Given the description of an element on the screen output the (x, y) to click on. 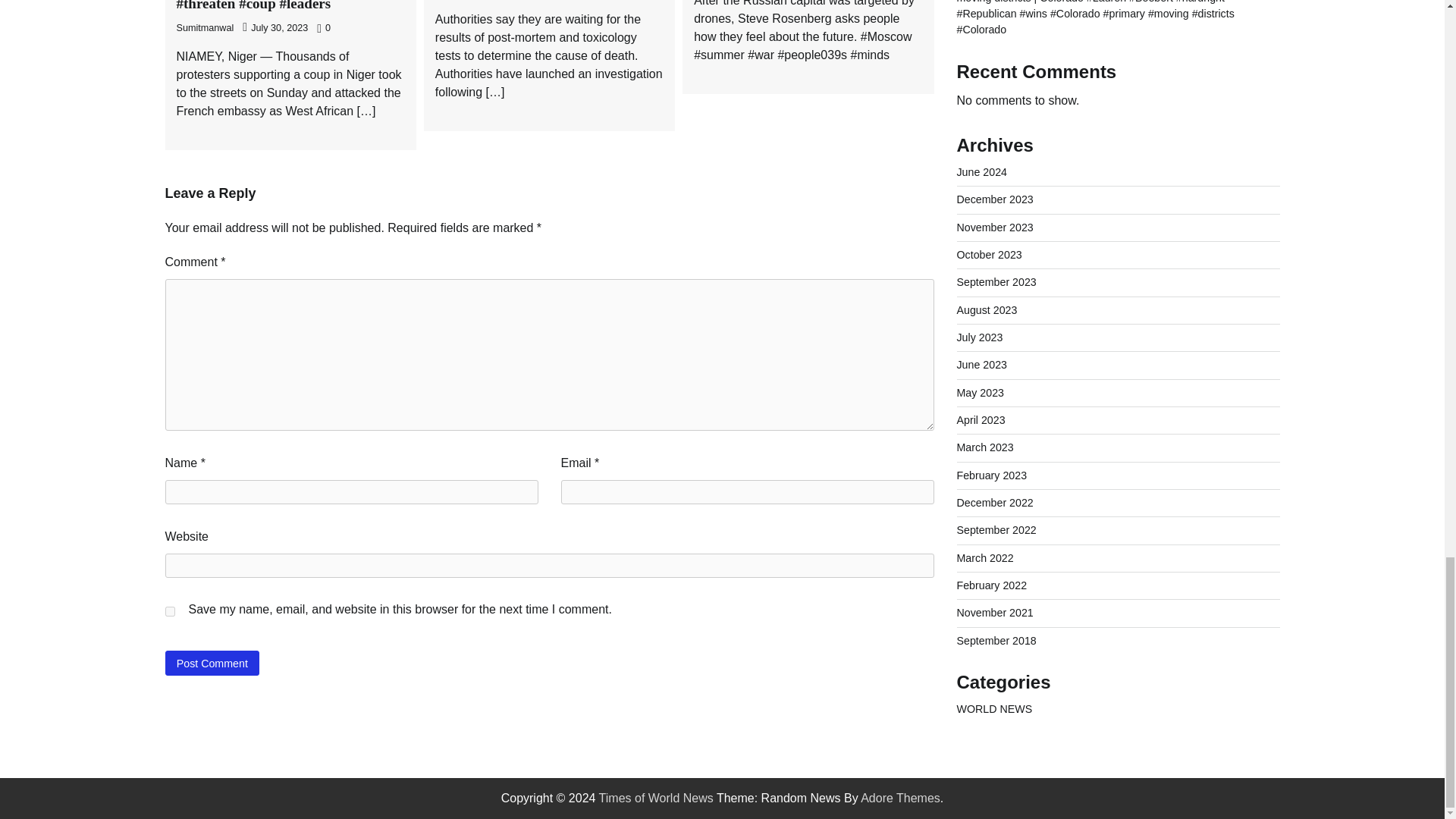
Post Comment (212, 662)
Sumitmanwal (204, 27)
yes (169, 611)
Post Comment (212, 662)
